Given the description of an element on the screen output the (x, y) to click on. 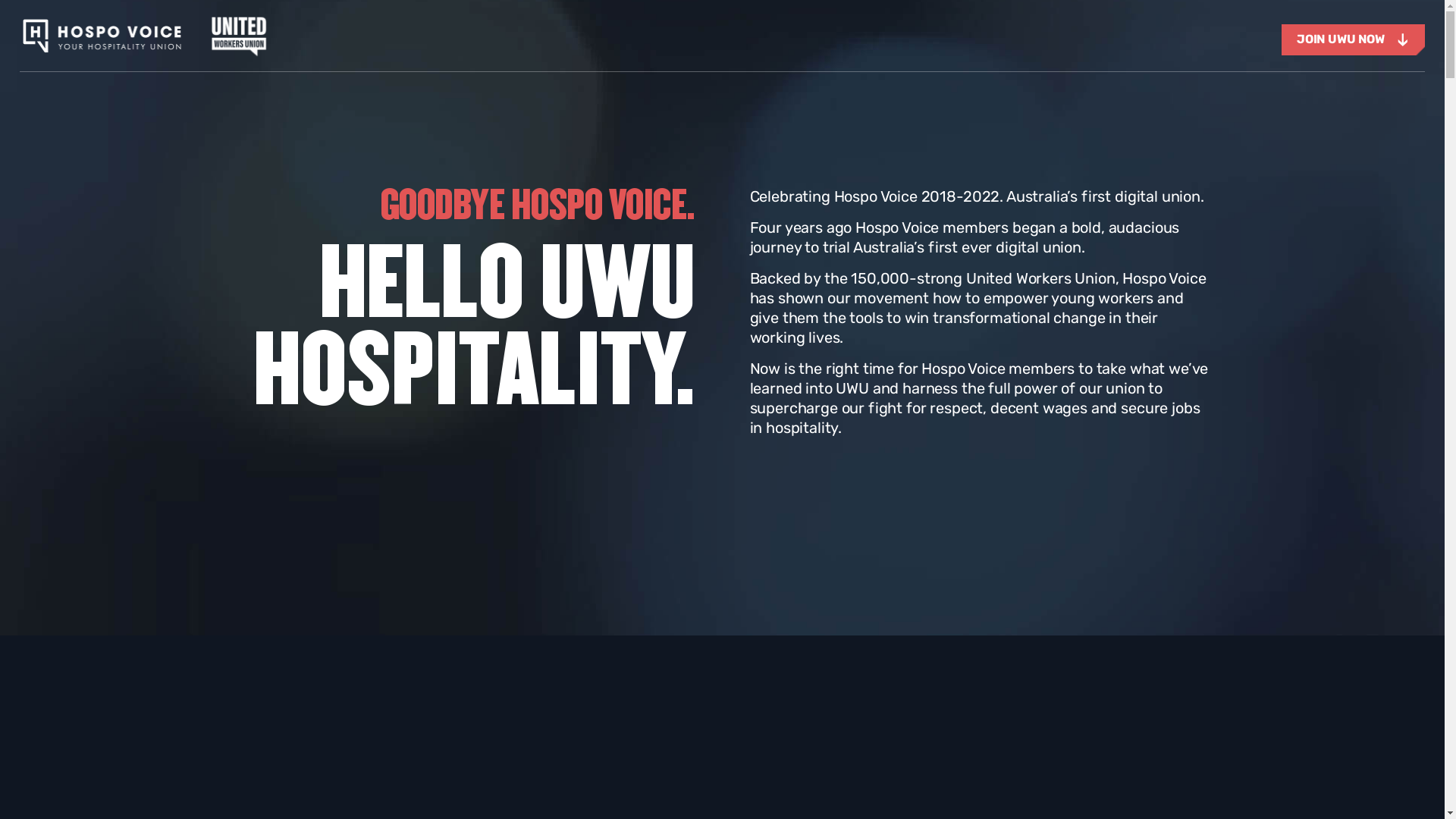
JOIN UWU NOW Element type: text (1352, 39)
